Given the description of an element on the screen output the (x, y) to click on. 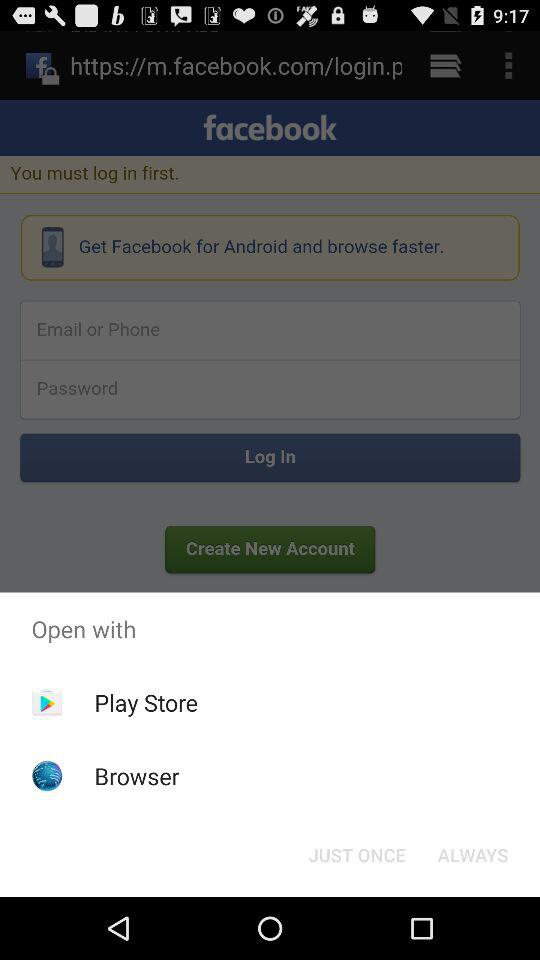
jump until play store item (146, 702)
